Given the description of an element on the screen output the (x, y) to click on. 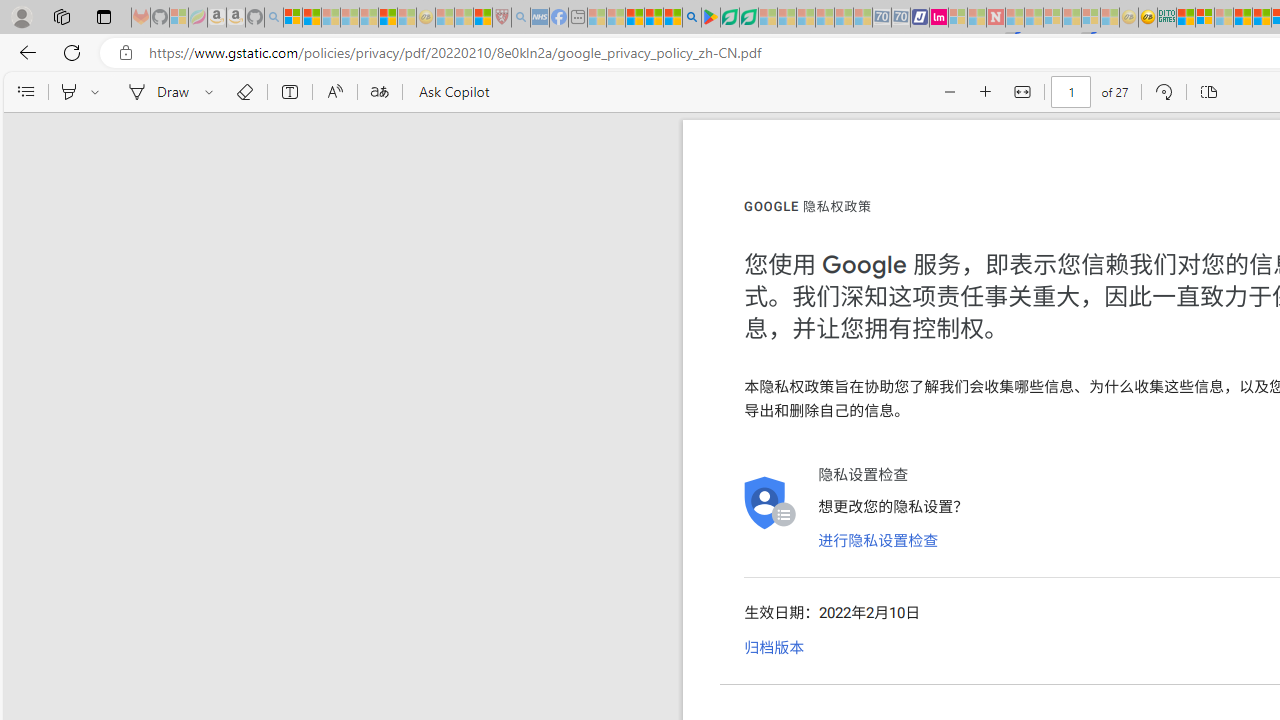
Terms of Use Agreement (729, 17)
Translate (379, 92)
Erase (244, 92)
Microsoft Word - consumer-privacy address update 2.2021 (748, 17)
Zoom in (Ctrl+Plus key) (985, 92)
